Given the description of an element on the screen output the (x, y) to click on. 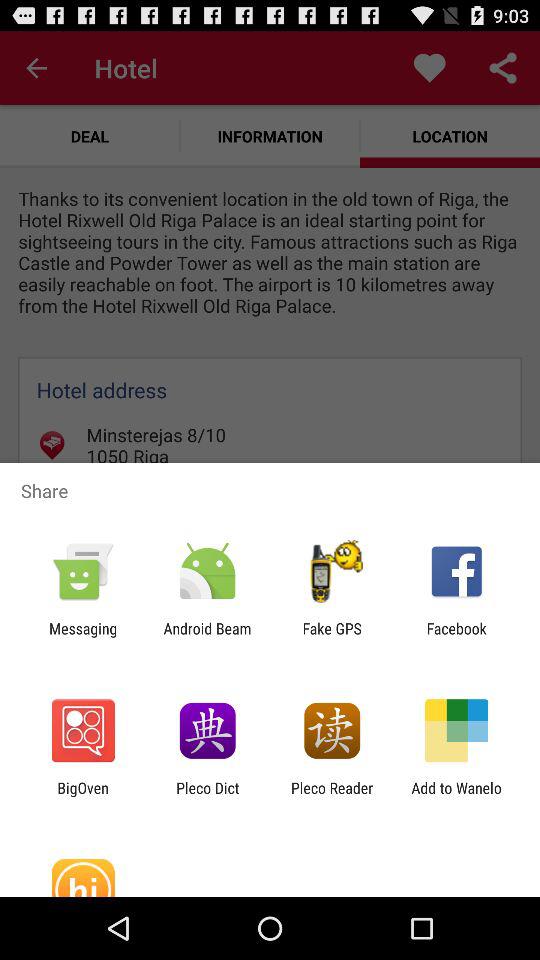
choose the icon to the left of facebook item (331, 637)
